Given the description of an element on the screen output the (x, y) to click on. 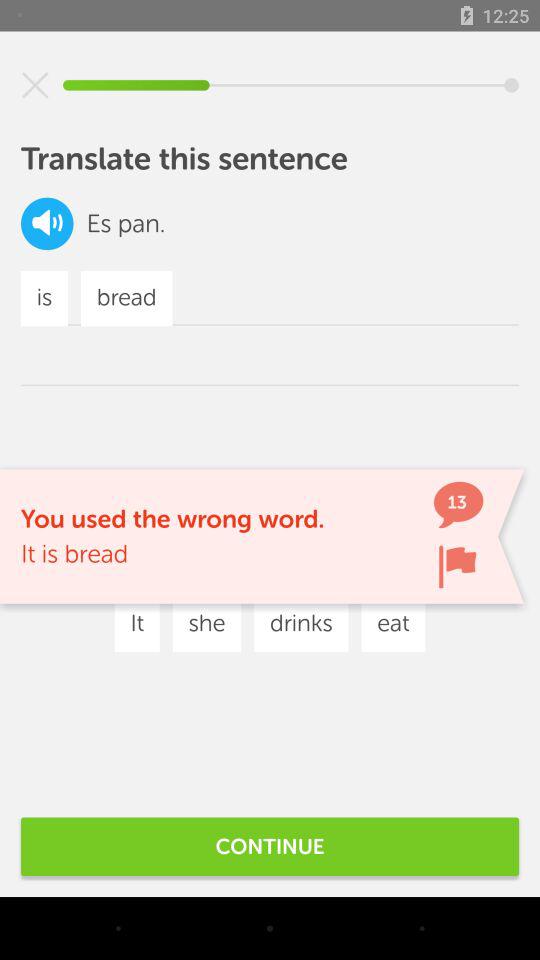
press icon to the left of the eat item (301, 624)
